Given the description of an element on the screen output the (x, y) to click on. 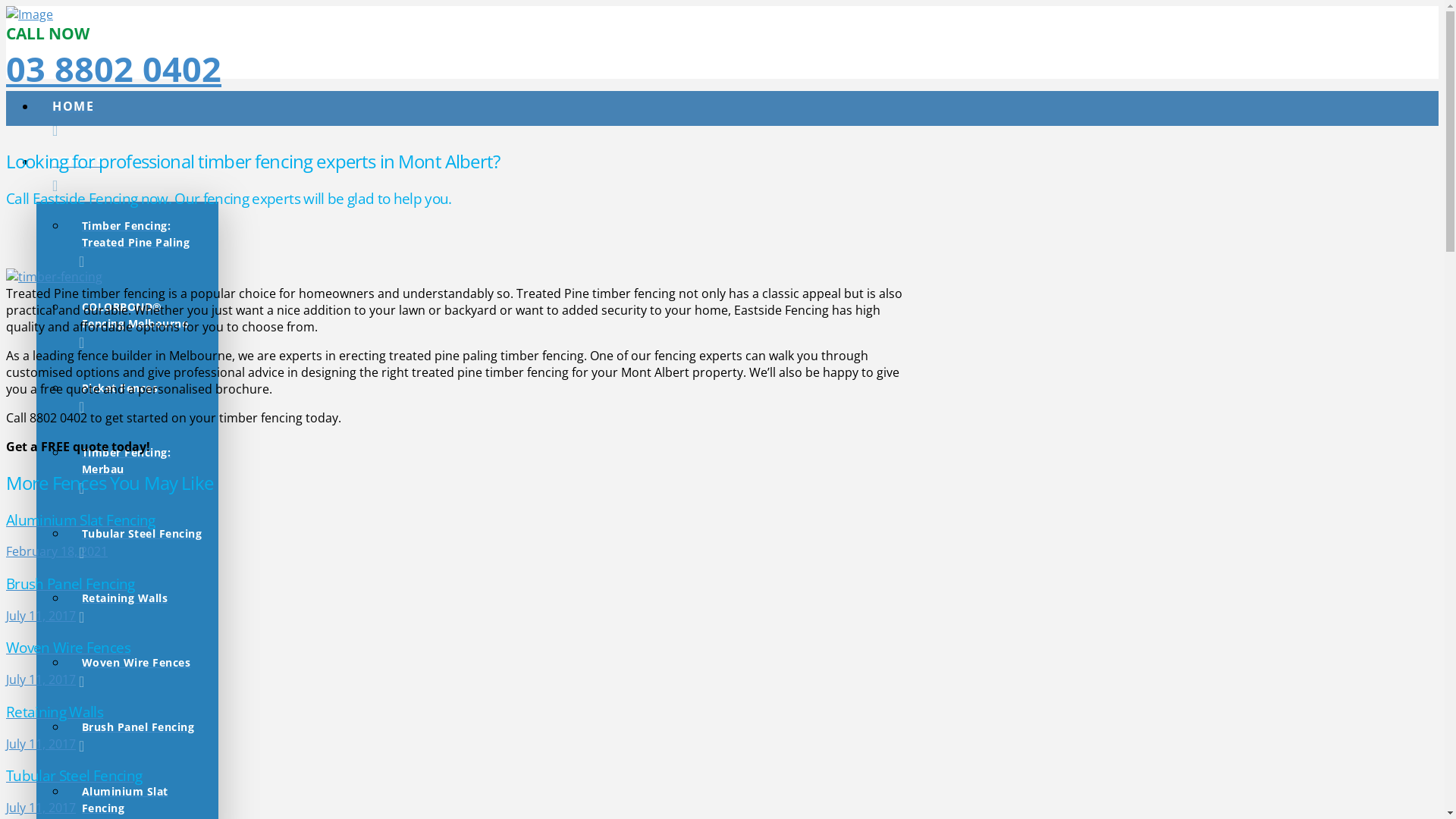
Retaining Walls
July 11, 2017 Element type: text (461, 727)
Timber Fencing: Merbau Element type: text (142, 468)
Retaining Walls Element type: text (142, 606)
FENCES Element type: text (476, 173)
Brush Panel Fencing Element type: text (142, 734)
Woven Wire Fences
July 11, 2017 Element type: text (461, 662)
HOME Element type: text (476, 118)
Tubular Steel Fencing
July 11, 2017 Element type: text (461, 790)
03 8802 0402 Element type: text (113, 68)
Timber Fencing: Treated Pine Paling Element type: text (142, 241)
Brush Panel Fencing
July 11, 2017 Element type: text (461, 599)
Aluminium Slat Fencing
February 18, 2021 Element type: text (461, 535)
Tubular Steel Fencing Element type: text (142, 541)
Picket Fences Element type: text (142, 396)
Woven Wire Fences Element type: text (142, 670)
